Given the description of an element on the screen output the (x, y) to click on. 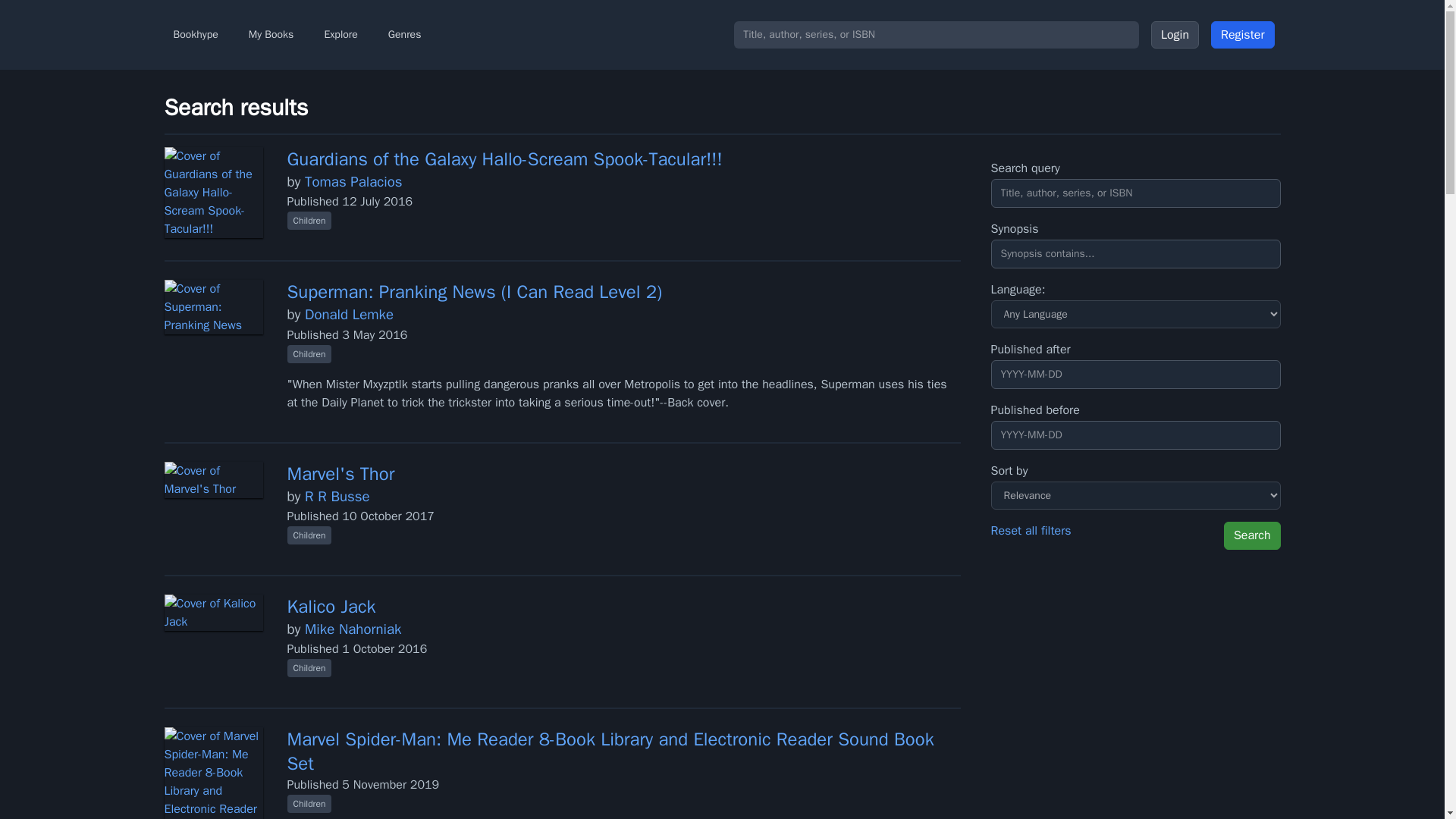
Reset all filters (1031, 534)
Explore (340, 34)
Guardians of the Galaxy Hallo-Scream Spook-Tacular!!! (504, 159)
R R Busse (336, 496)
Superman: Pranking News (393, 291)
Tomas Palacios (353, 181)
Search (1252, 534)
Marvel's Thor (340, 473)
Register (1243, 34)
Login (1174, 34)
Kalico Jack (330, 606)
Bookhype (195, 34)
Donald Lemke (348, 314)
Genres (404, 34)
